Given the description of an element on the screen output the (x, y) to click on. 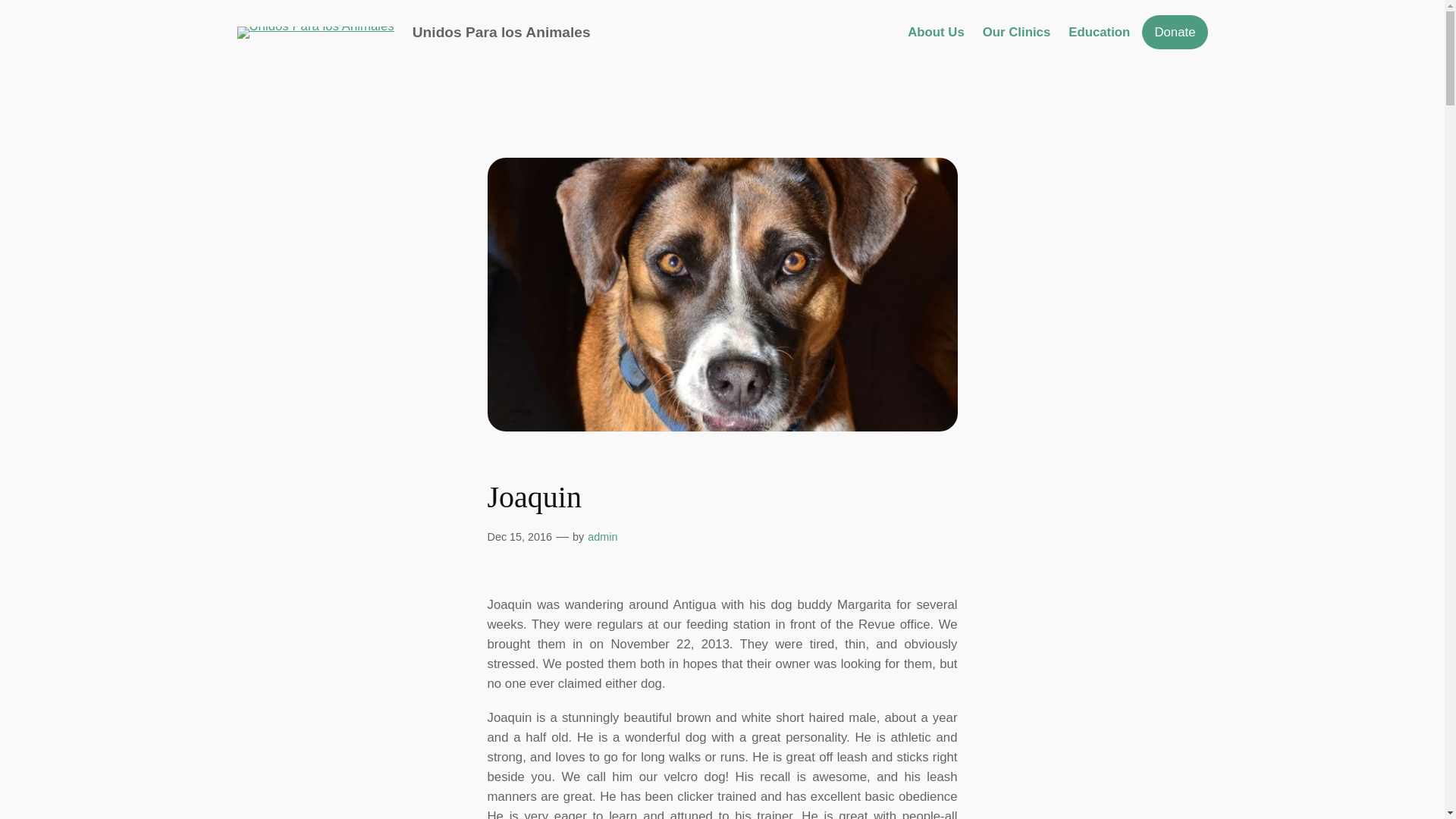
Unidos Para los Animales (501, 32)
Education (1098, 32)
Donate (1174, 32)
Our Clinics (1016, 32)
Dec 15, 2016 (518, 536)
admin (602, 536)
About Us (935, 32)
